Given the description of an element on the screen output the (x, y) to click on. 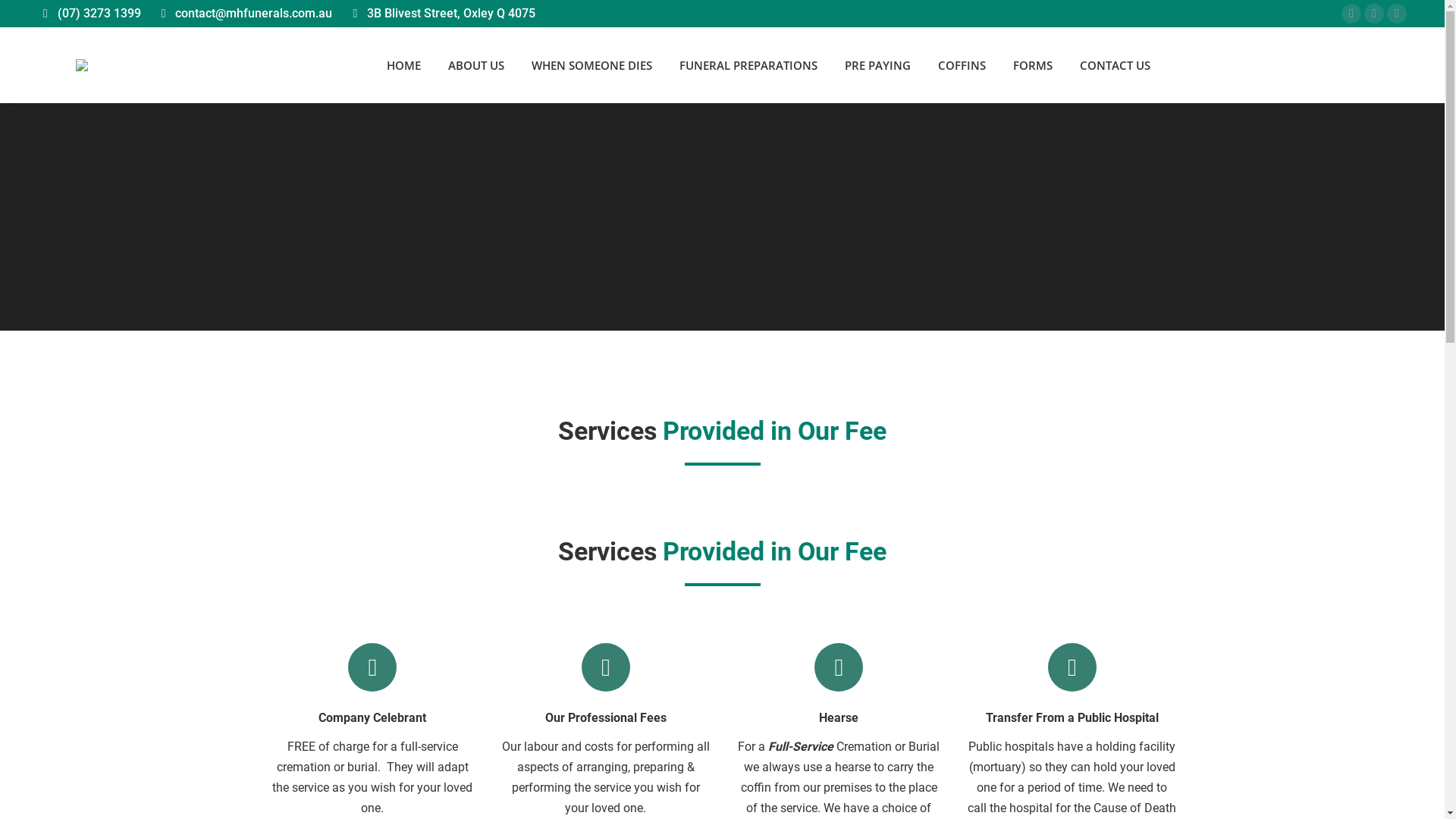
WHEN SOMEONE DIES Element type: text (590, 64)
(07) 3273 1399 Element type: text (99, 13)
FUNERAL PREPARATIONS Element type: text (748, 64)
Facebook page opens in new window Element type: text (1351, 13)
COFFINS Element type: text (961, 64)
PRE PAYING Element type: text (877, 64)
ABOUT US Element type: text (475, 64)
FORMS Element type: text (1032, 64)
contact@mhfunerals.com.au Element type: text (253, 13)
HOME Element type: text (403, 64)
Twitter page opens in new window Element type: text (1373, 13)
CONTACT US Element type: text (1114, 64)
Instagram page opens in new window Element type: text (1396, 13)
